Given the description of an element on the screen output the (x, y) to click on. 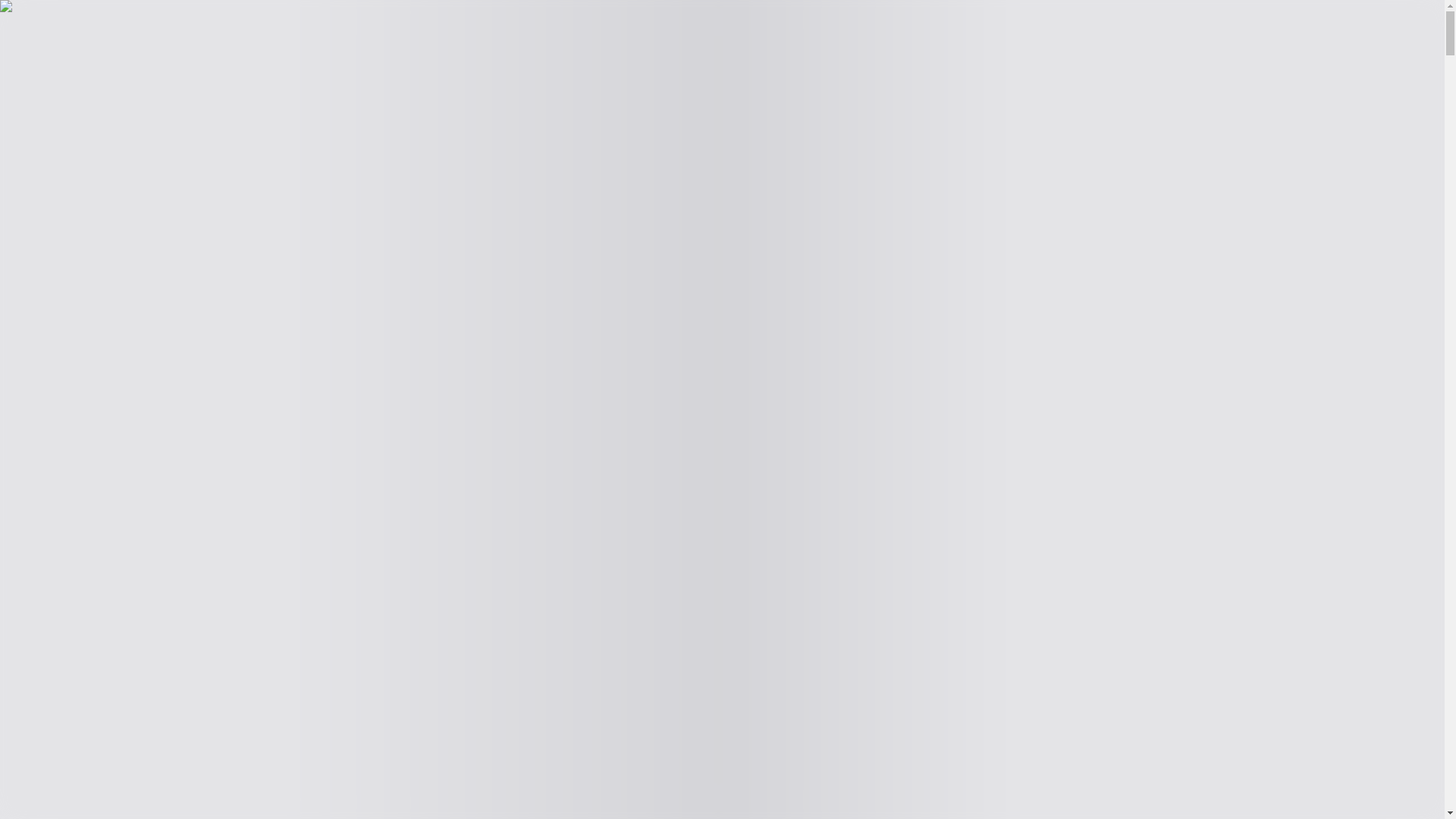
Open Sidebar Menu (344, 27)
Podcasts (66, 60)
Search articles, podcasts, videos, resources, and authors. (146, 27)
Themes (34, 44)
Our Services (151, 60)
Videos (103, 60)
Articles (25, 60)
